Given the description of an element on the screen output the (x, y) to click on. 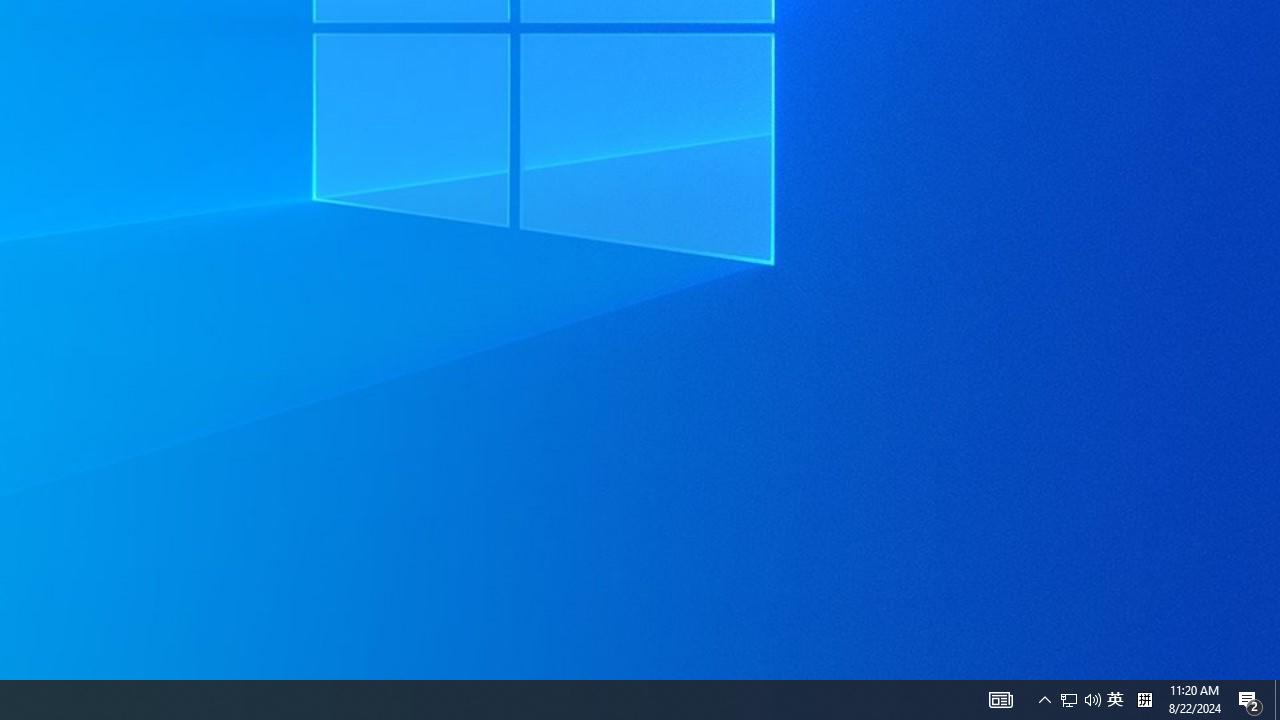
Action Center, 2 new notifications (1115, 699)
AutomationID: 4105 (1250, 699)
Show desktop (1000, 699)
User Promoted Notification Area (1277, 699)
Notification Chevron (1080, 699)
Q2790: 100% (1069, 699)
Tray Input Indicator - Chinese (Simplified, China) (1044, 699)
